Given the description of an element on the screen output the (x, y) to click on. 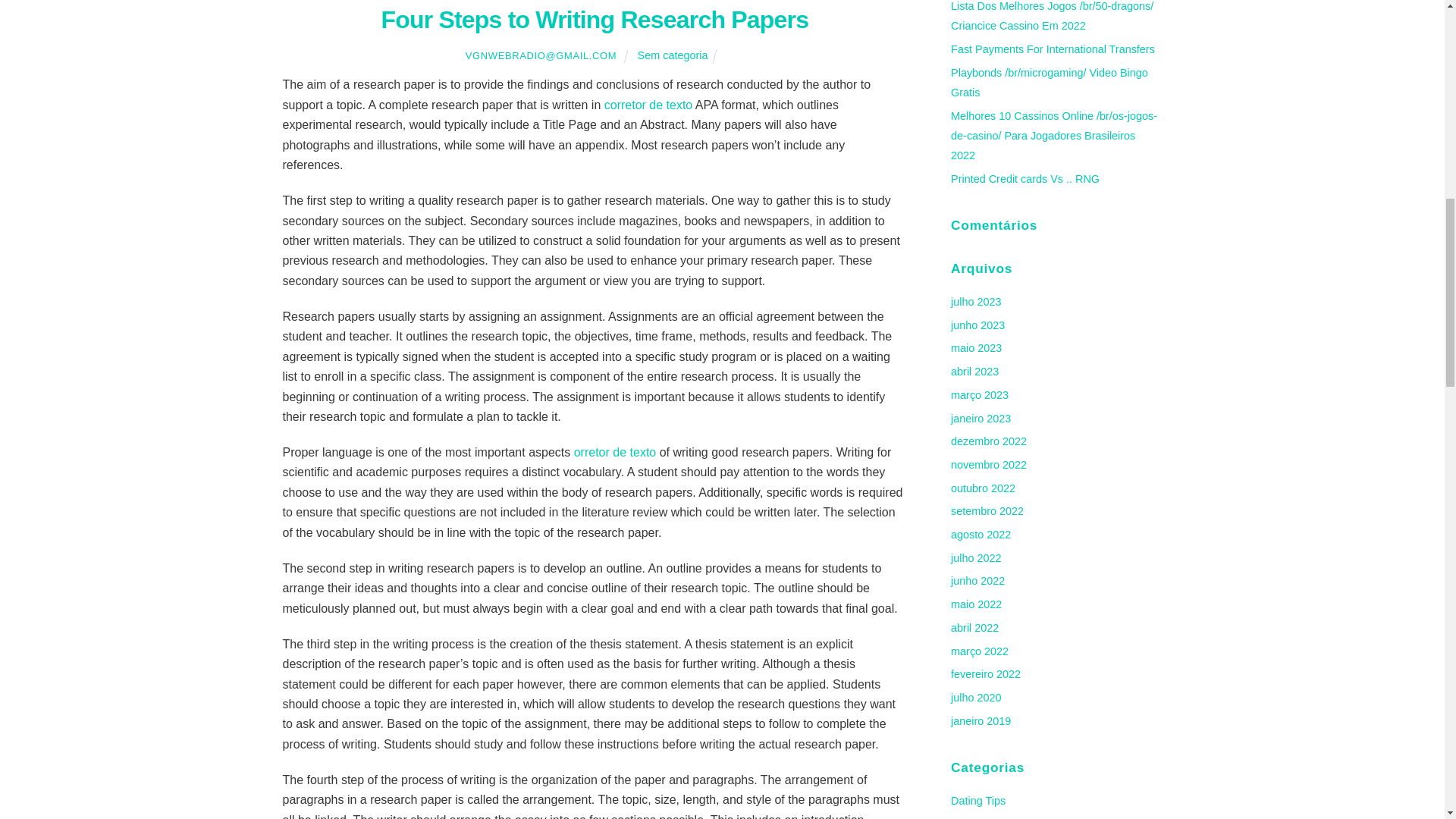
dezembro 2022 (988, 440)
setembro 2022 (986, 510)
outubro 2022 (982, 488)
maio 2022 (975, 604)
maio 2023 (975, 347)
junho 2022 (977, 580)
orretor de texto (614, 451)
julho 2023 (975, 301)
janeiro 2023 (980, 418)
julho 2022 (975, 558)
Printed Credit cards Vs .. RNG (1024, 178)
junho 2023 (977, 325)
Four Steps to Writing Research Papers (594, 19)
abril 2023 (974, 371)
agosto 2022 (980, 534)
